Given the description of an element on the screen output the (x, y) to click on. 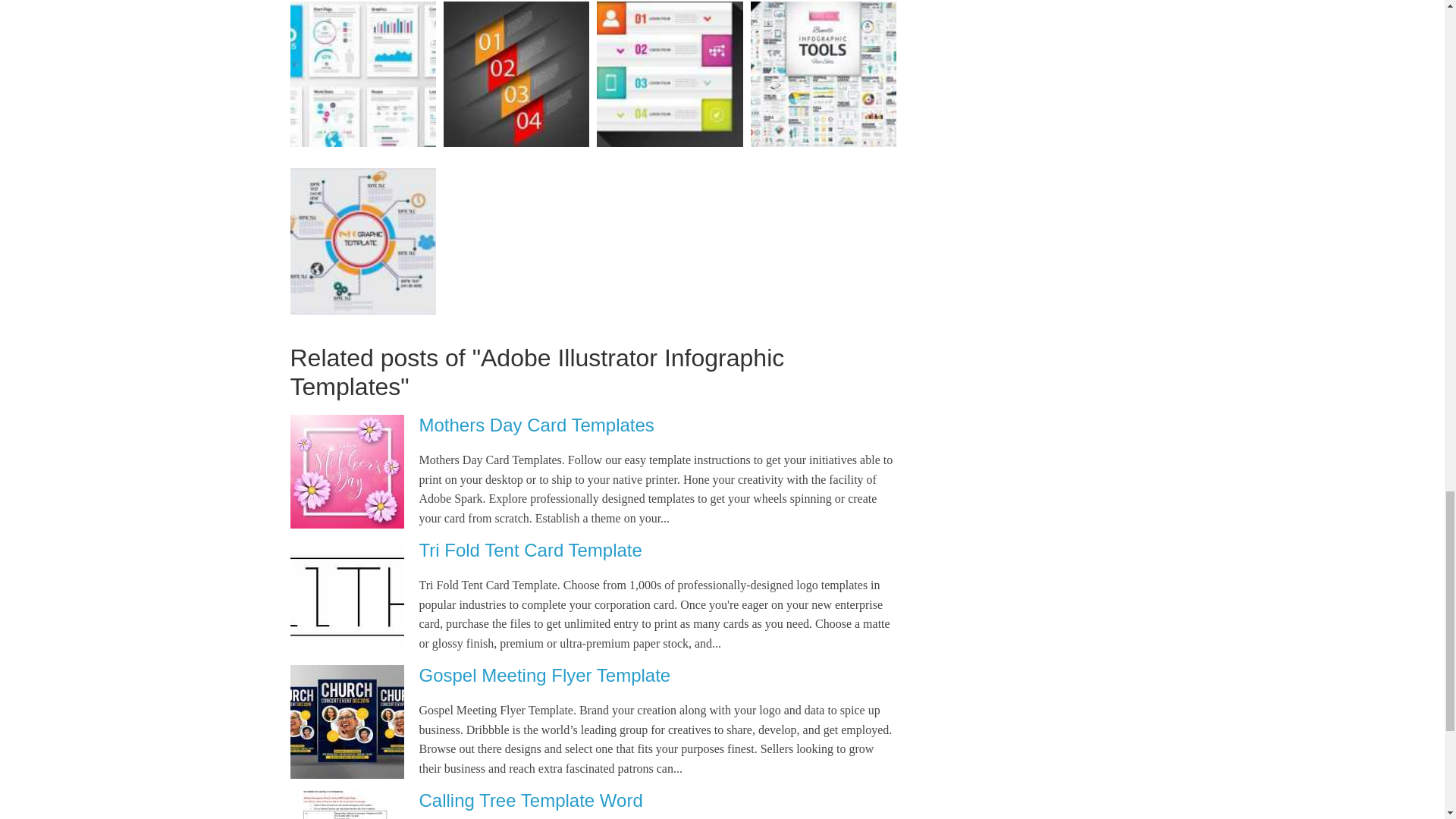
Mothers Day Card Templates (536, 424)
Tri Fold Tent Card Template (530, 549)
Gospel Meeting Flyer Template (544, 675)
Calling Tree Template Word (530, 800)
